Given the description of an element on the screen output the (x, y) to click on. 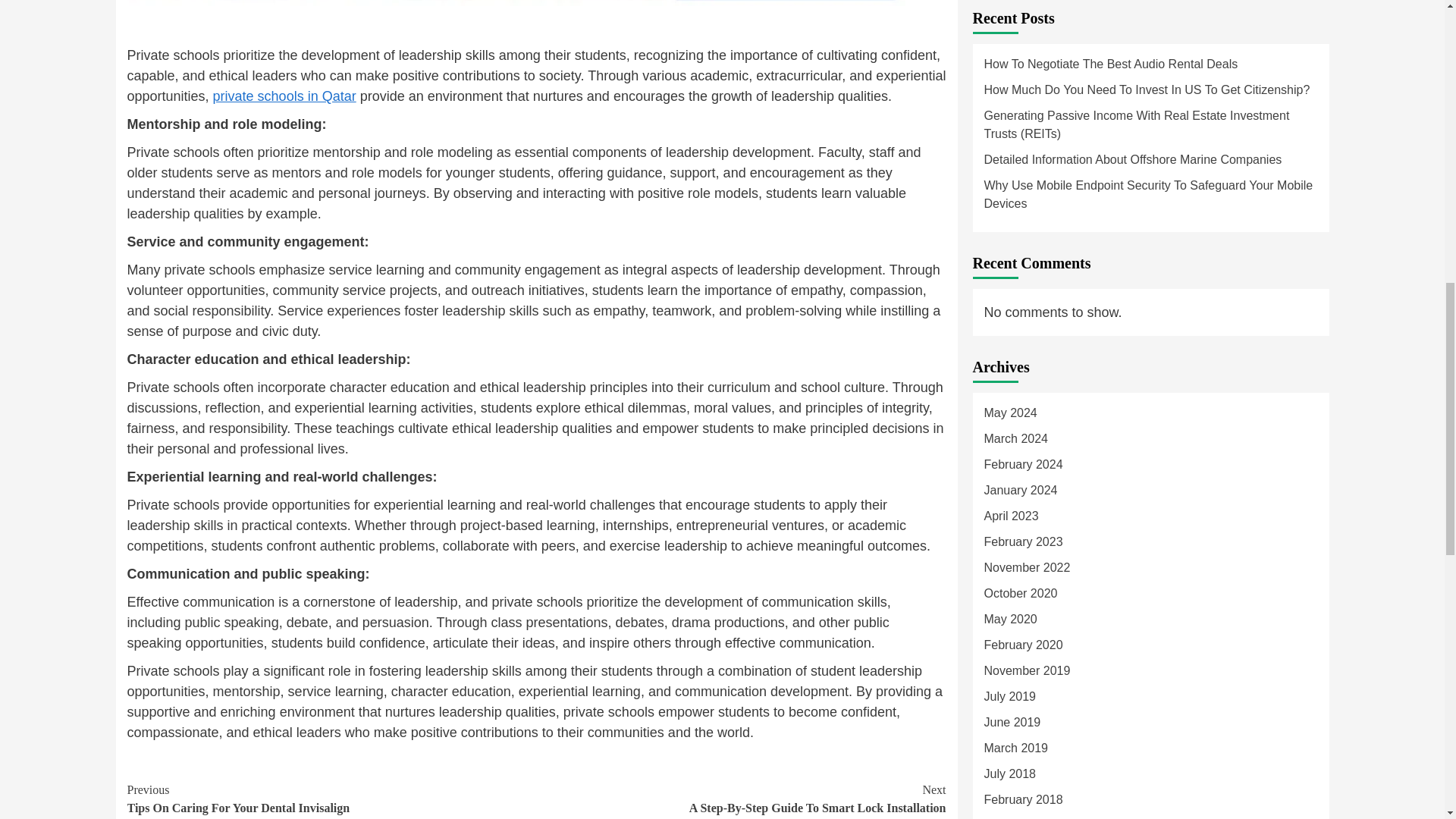
November 2019 (1150, 216)
private schools in Qatar (332, 799)
February 2024 (741, 799)
November 2022 (284, 96)
April 2023 (1150, 11)
May 2020 (1150, 112)
January 2024 (1150, 61)
February 2020 (1150, 164)
October 2020 (1150, 35)
February 2023 (1150, 190)
